Given the description of an element on the screen output the (x, y) to click on. 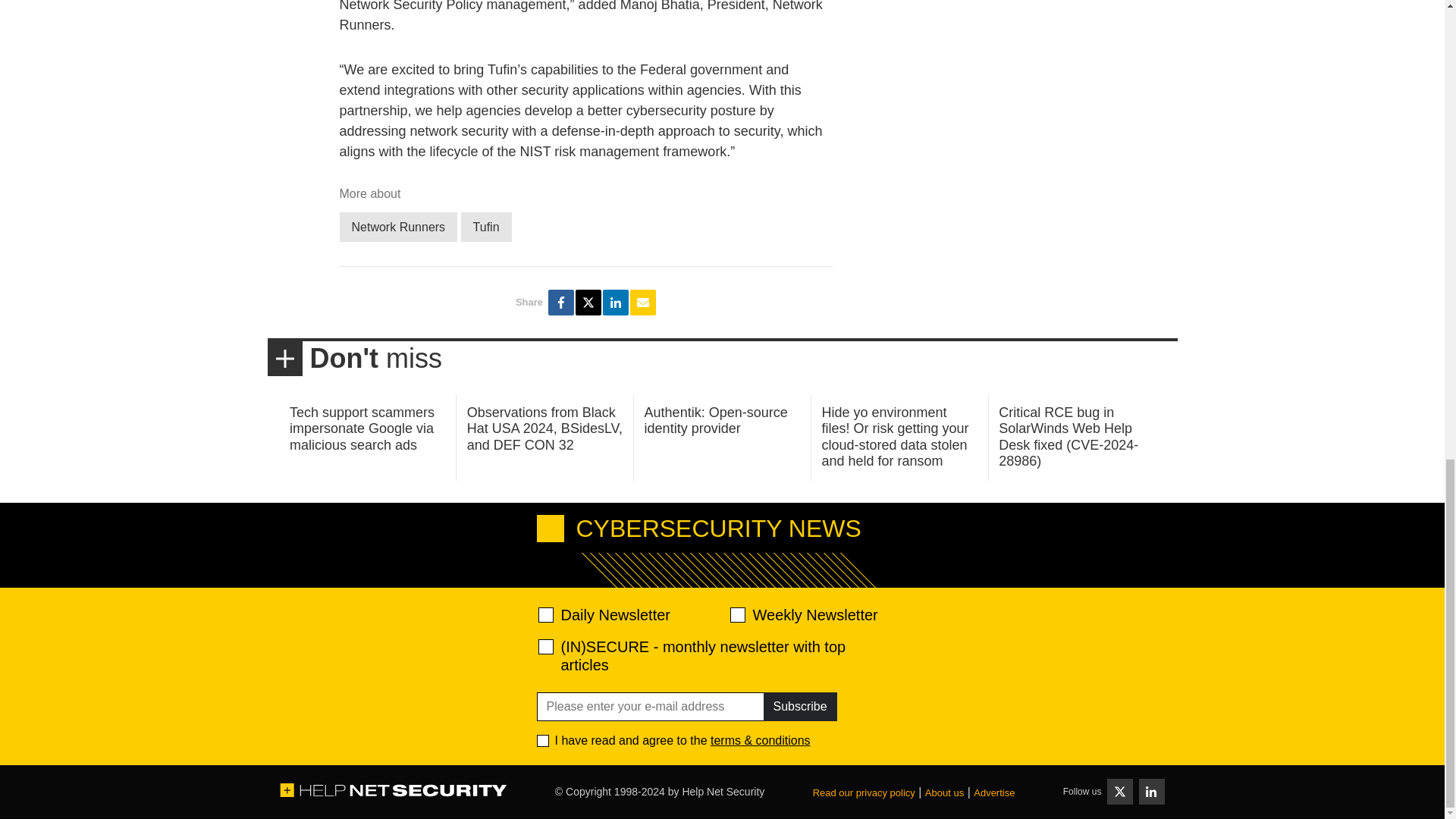
Tufin (486, 226)
d2d471aafa (736, 614)
1 (542, 740)
Tufin (486, 226)
28abe5d9ef (545, 646)
